Given the description of an element on the screen output the (x, y) to click on. 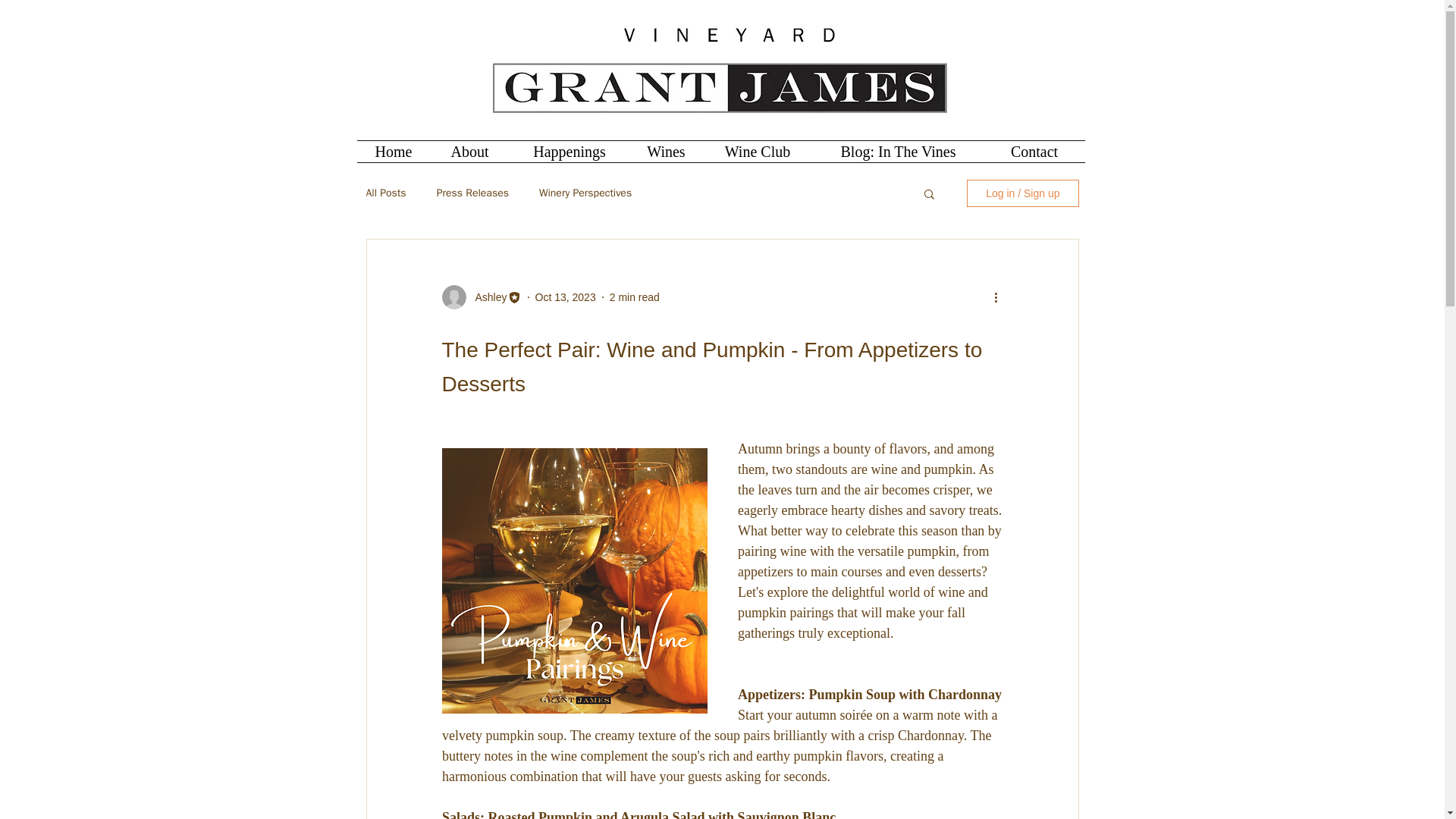
2 min read (634, 297)
Home (392, 151)
Wines (664, 151)
Blog: In The Vines (898, 151)
Winery Perspectives (584, 192)
Oct 13, 2023 (565, 297)
Contact (1034, 151)
Happenings (569, 151)
Wine Club (756, 151)
About (469, 151)
